Given the description of an element on the screen output the (x, y) to click on. 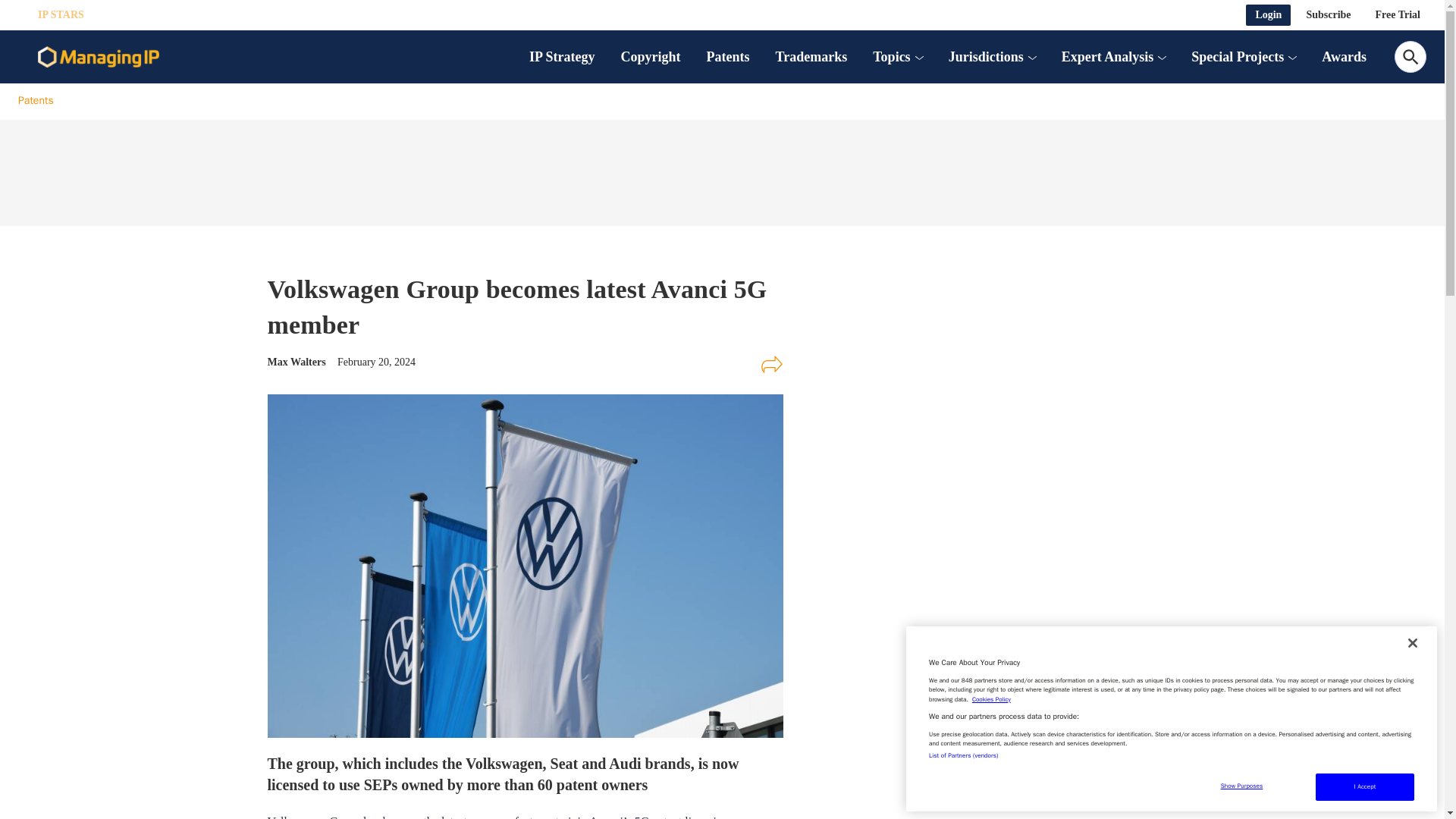
Share (771, 363)
3rd party ad content (721, 169)
Copyright (651, 56)
Free Trial (1398, 14)
Patents (727, 56)
Login (1268, 14)
IP Strategy (561, 56)
Subscribe (1328, 14)
Trademarks (811, 56)
IP STARS (60, 14)
Jurisdictions (986, 56)
3rd party ad content (979, 380)
